Given the description of an element on the screen output the (x, y) to click on. 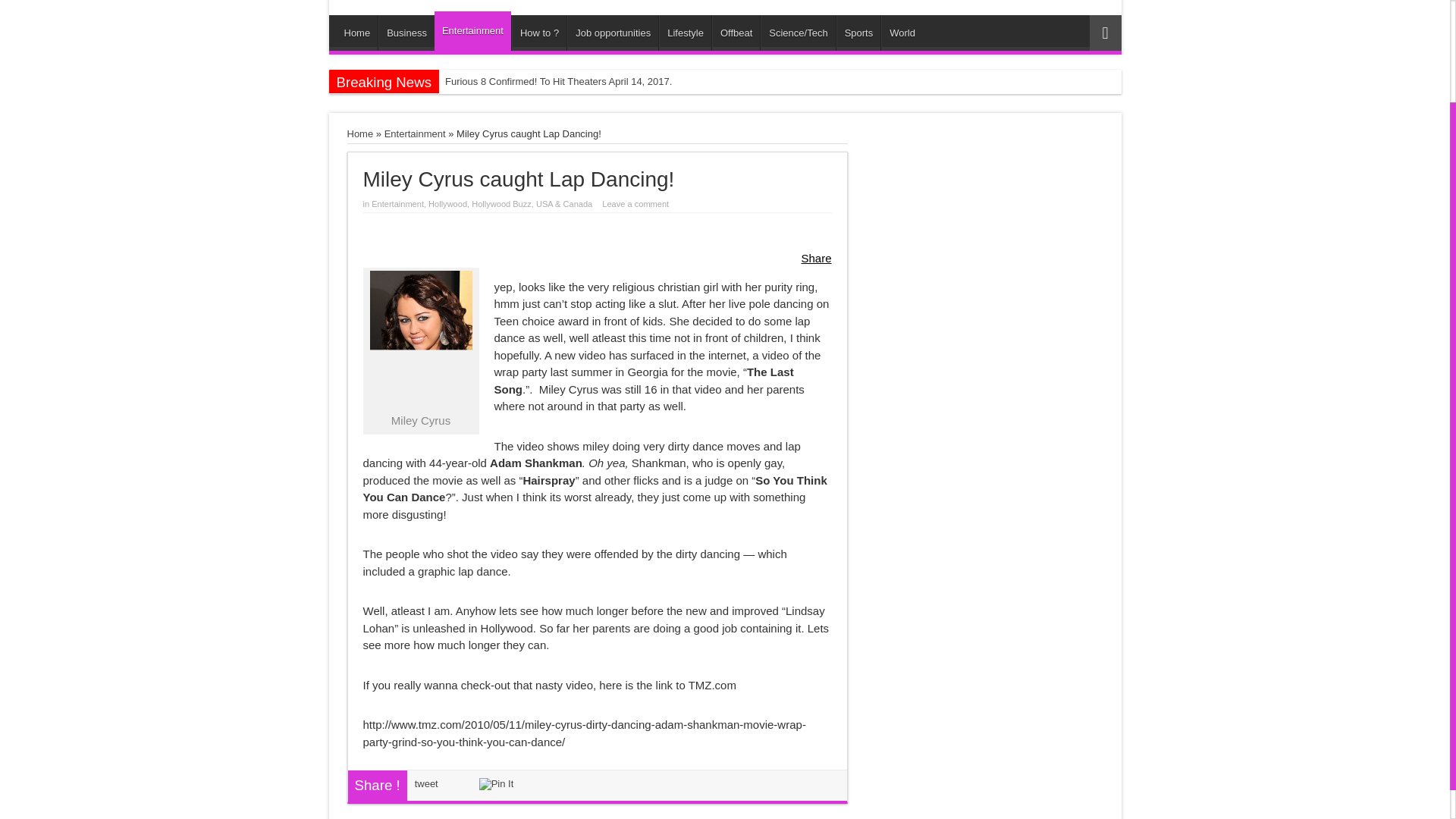
Business (405, 32)
Entertainment (472, 30)
Home (360, 133)
Lifestyle (685, 32)
Kawhi Leonard Named NBA Defensive Player of the Year 2015-16 (593, 105)
Pin It (496, 784)
Hollywood (447, 203)
Entertainment (414, 133)
Random Article (1105, 32)
Job opportunities (612, 32)
